Given the description of an element on the screen output the (x, y) to click on. 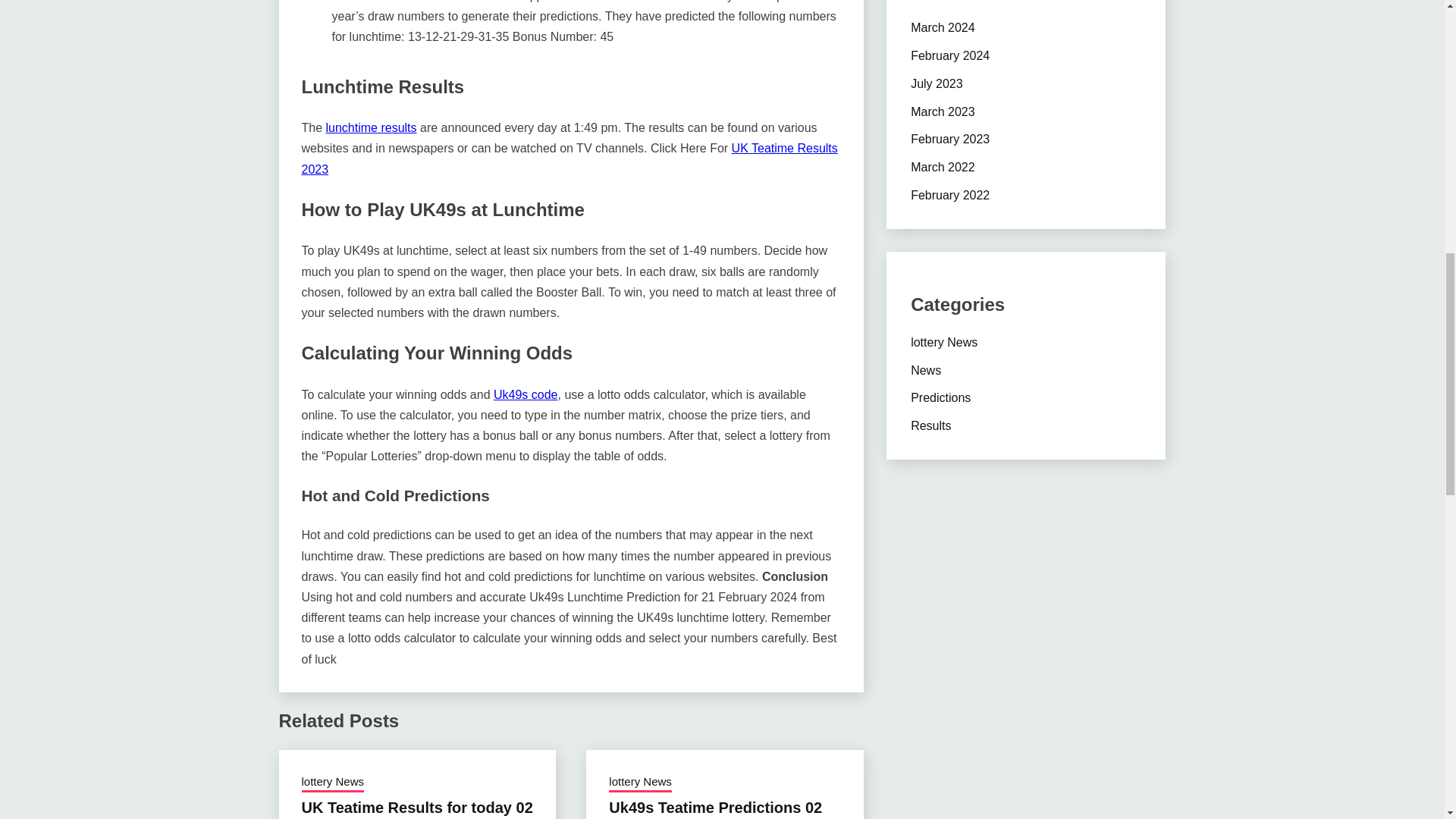
lunchtime results (371, 127)
Uk49s code (525, 394)
lottery News (639, 783)
UK Teatime Results 2023 (569, 158)
UK Teatime Results for today 02 March 2024 (416, 809)
lottery News (333, 783)
March 2024 (943, 27)
Uk49s Teatime Predictions 02 March 2024 (715, 809)
